Given the description of an element on the screen output the (x, y) to click on. 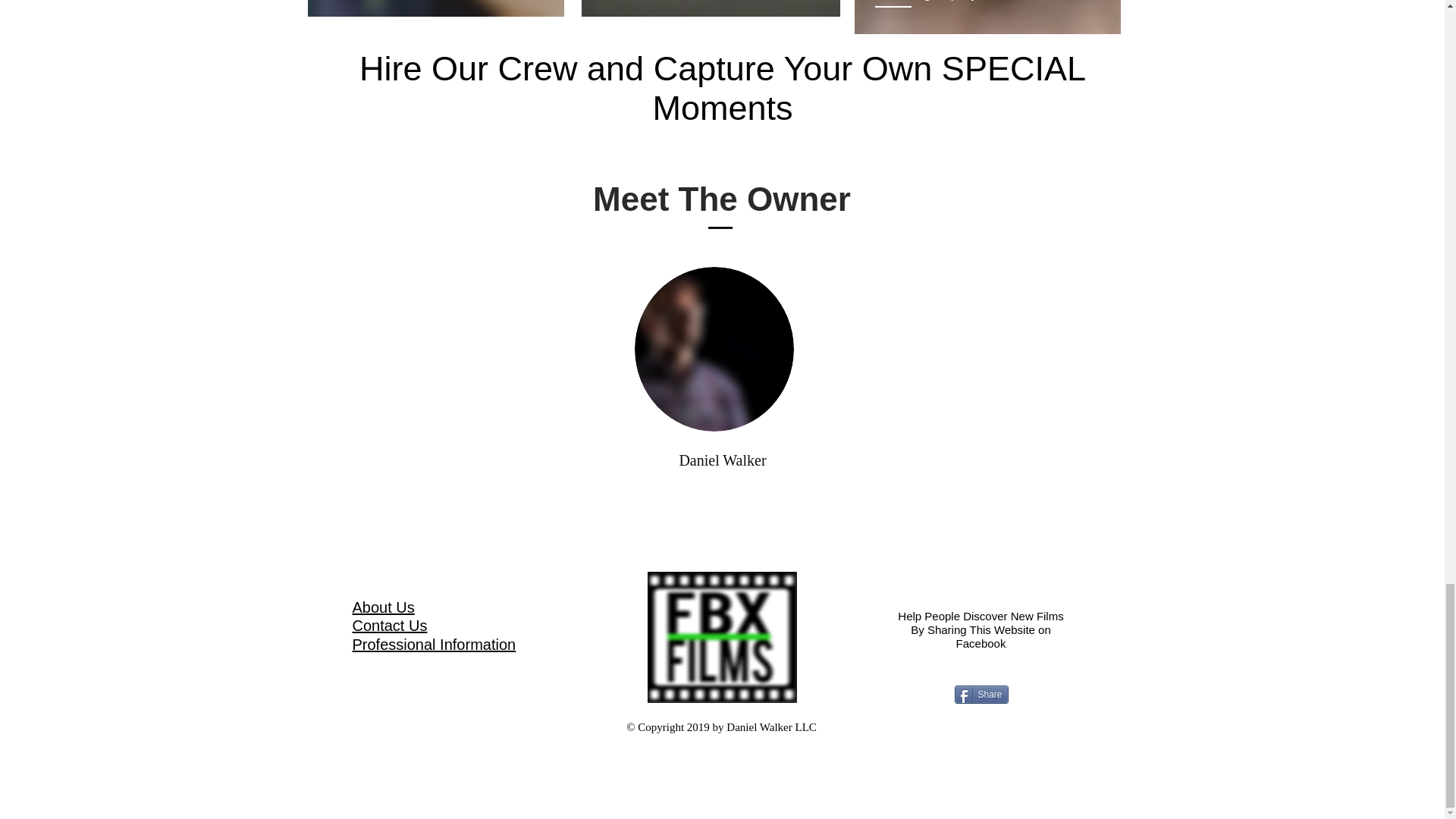
guy3.jpg (713, 348)
Contact Us (389, 624)
About Us (382, 606)
Professional Information (433, 644)
Share (980, 693)
Share (980, 693)
